Given the description of an element on the screen output the (x, y) to click on. 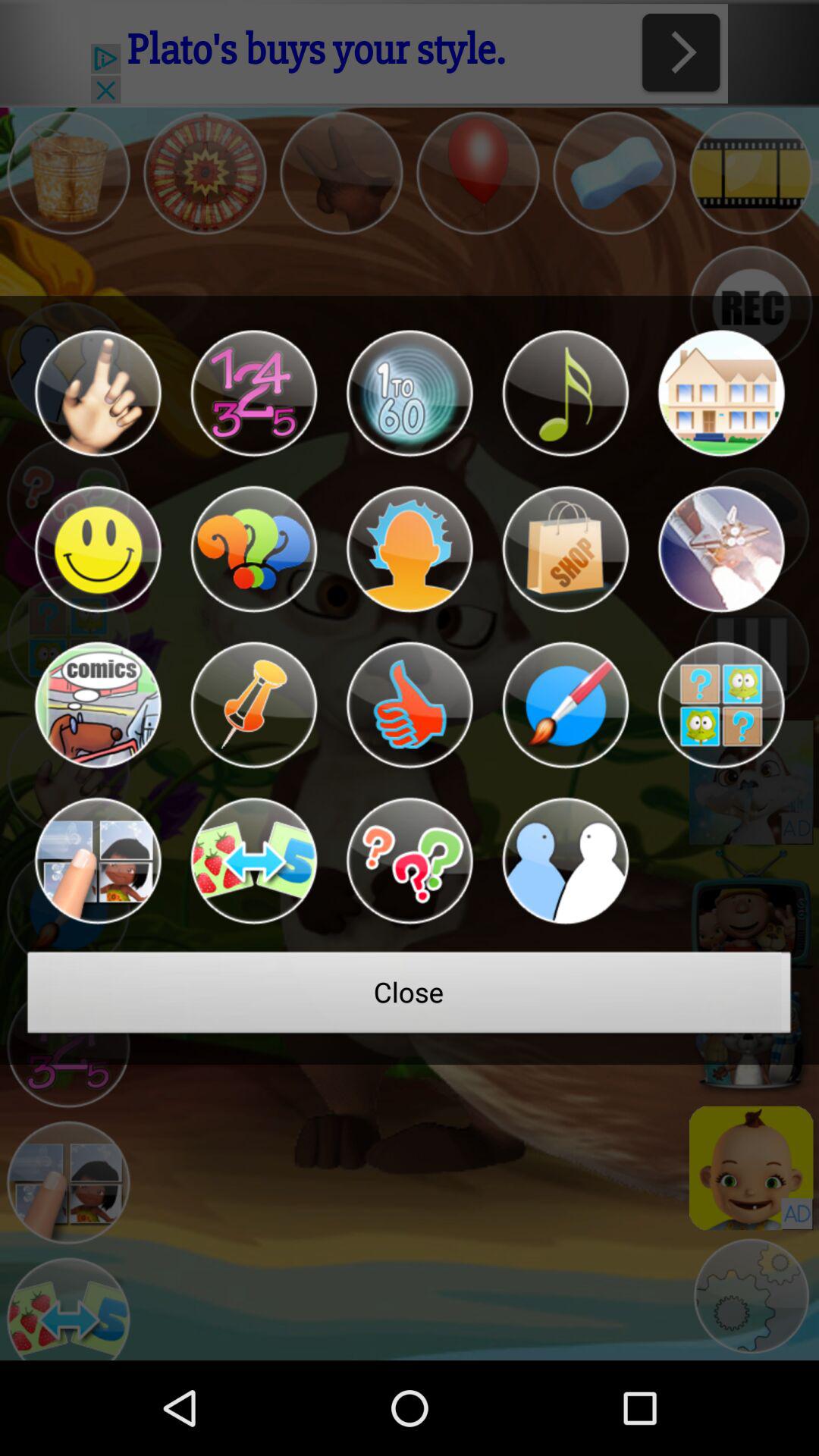
select option (97, 549)
